Given the description of an element on the screen output the (x, y) to click on. 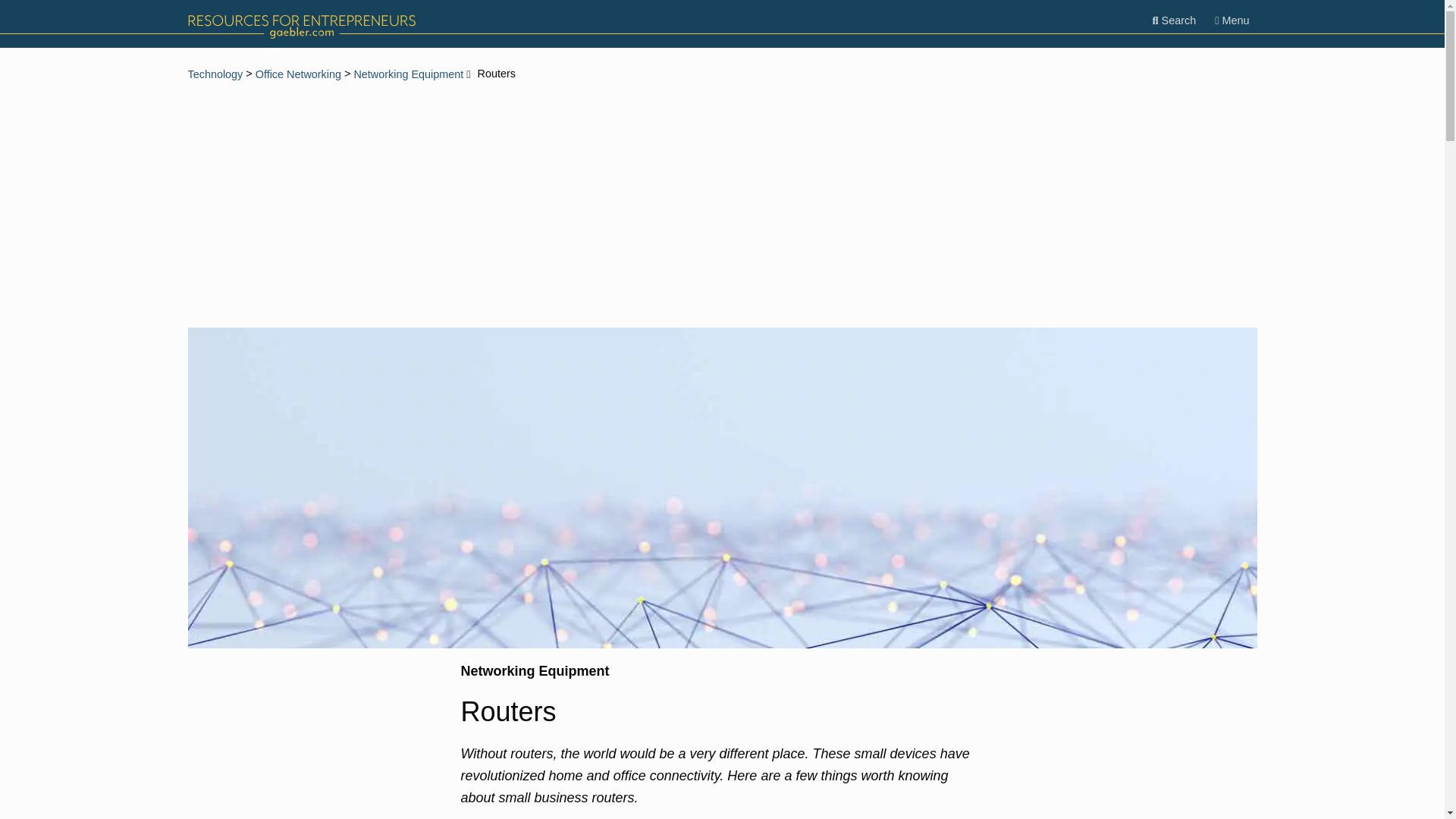
Search (1174, 20)
Menu (1231, 20)
